Given the description of an element on the screen output the (x, y) to click on. 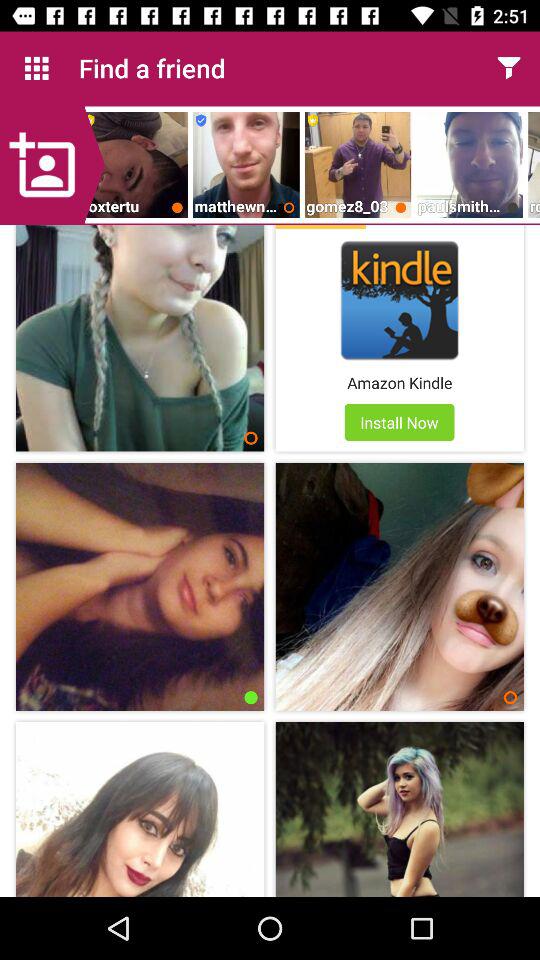
select the install now app (399, 421)
